Given the description of an element on the screen output the (x, y) to click on. 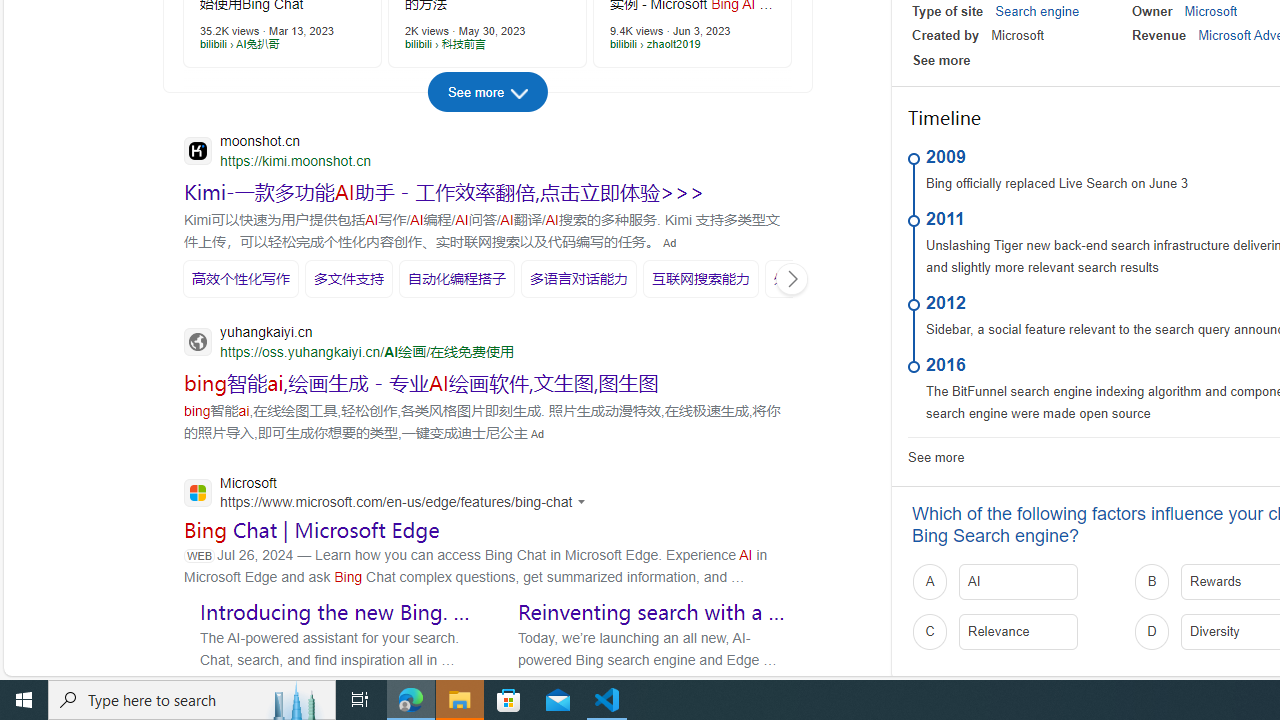
Revenue (1158, 35)
